Given the description of an element on the screen output the (x, y) to click on. 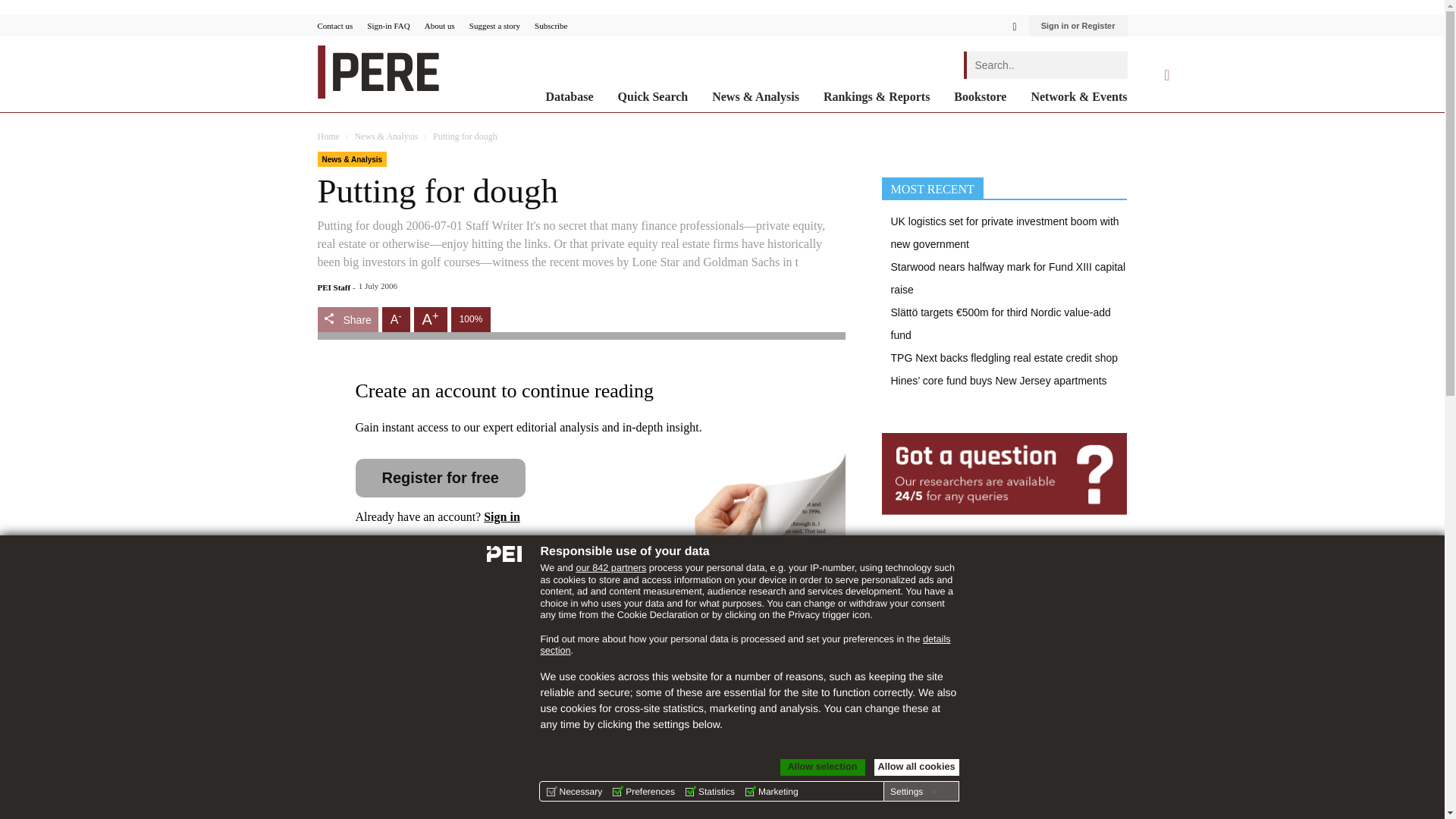
details section (745, 644)
Allow selection (821, 767)
our 842 partners (610, 567)
Allow all cookies (915, 767)
Settings (913, 791)
